Given the description of an element on the screen output the (x, y) to click on. 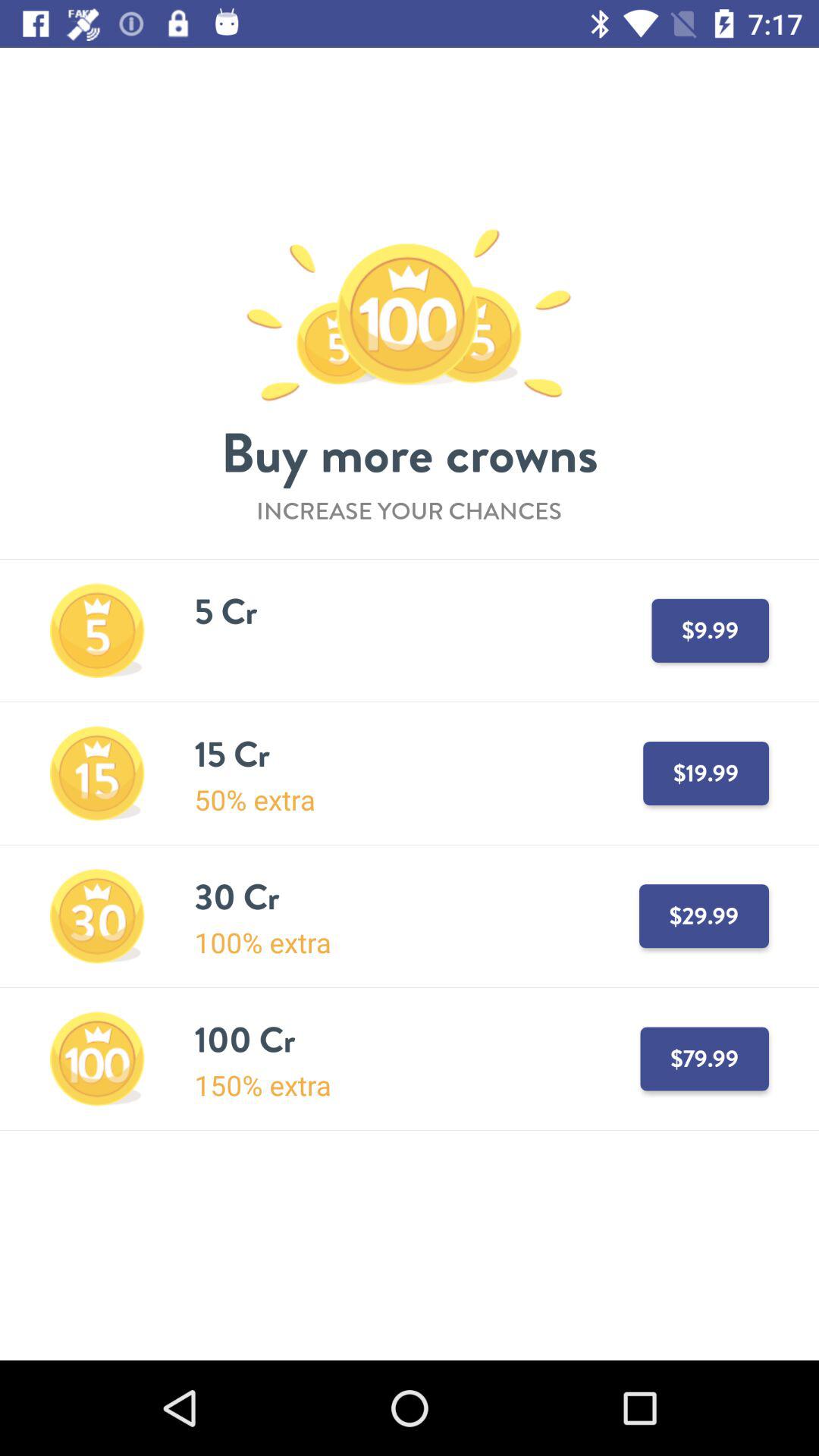
click on 7999 which is next to 100 cr (704, 1058)
click on the text 2999 which is right of 30 cr (704, 915)
select the text 9999 which is in the first option (710, 630)
